Given the description of an element on the screen output the (x, y) to click on. 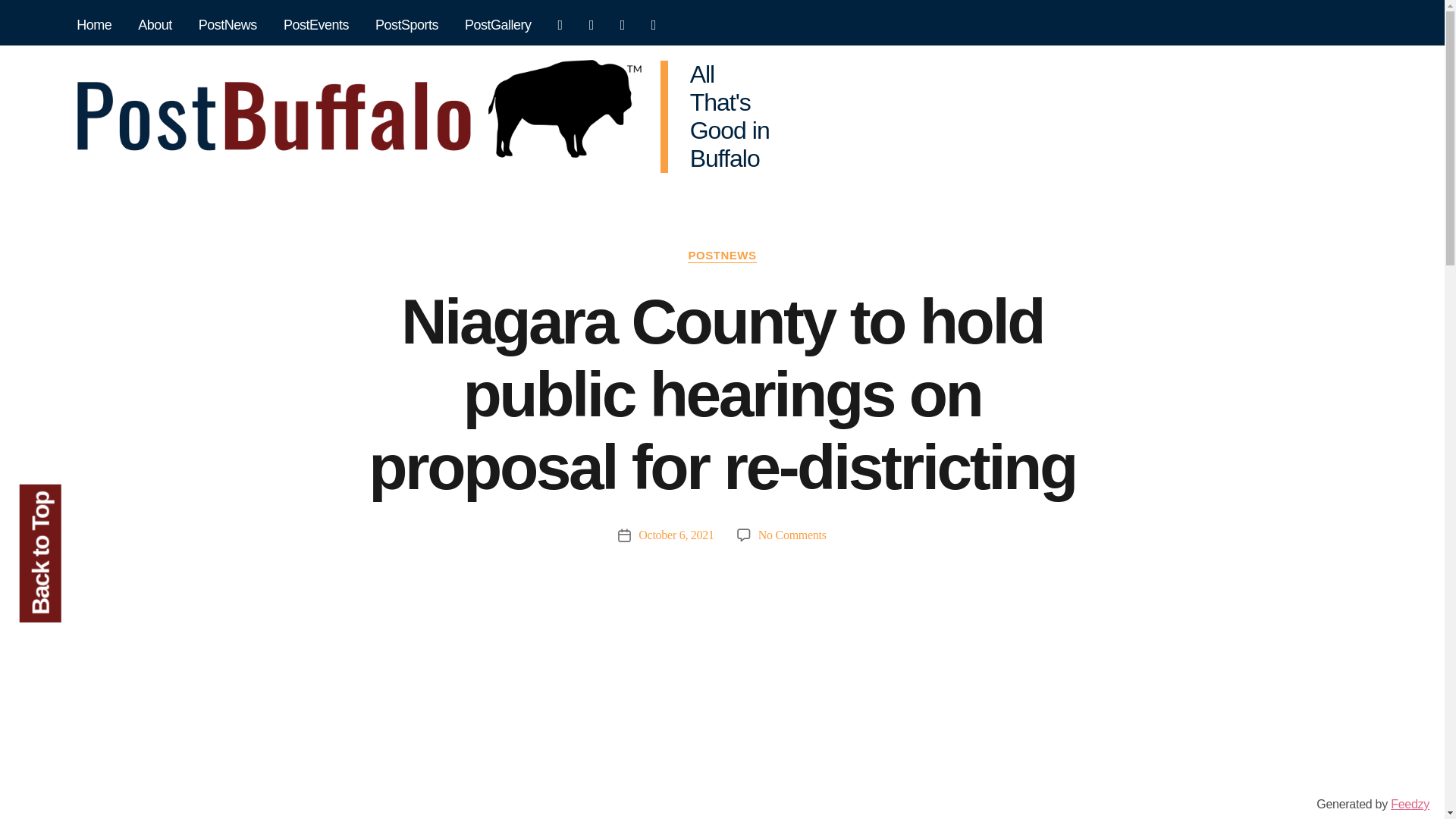
About (154, 25)
PostNews (227, 25)
Back to Top (88, 504)
POSTNEWS (721, 255)
Home (93, 25)
PostGallery (498, 25)
PostEvents (315, 25)
PostSports (406, 25)
October 6, 2021 (676, 534)
